Given the description of an element on the screen output the (x, y) to click on. 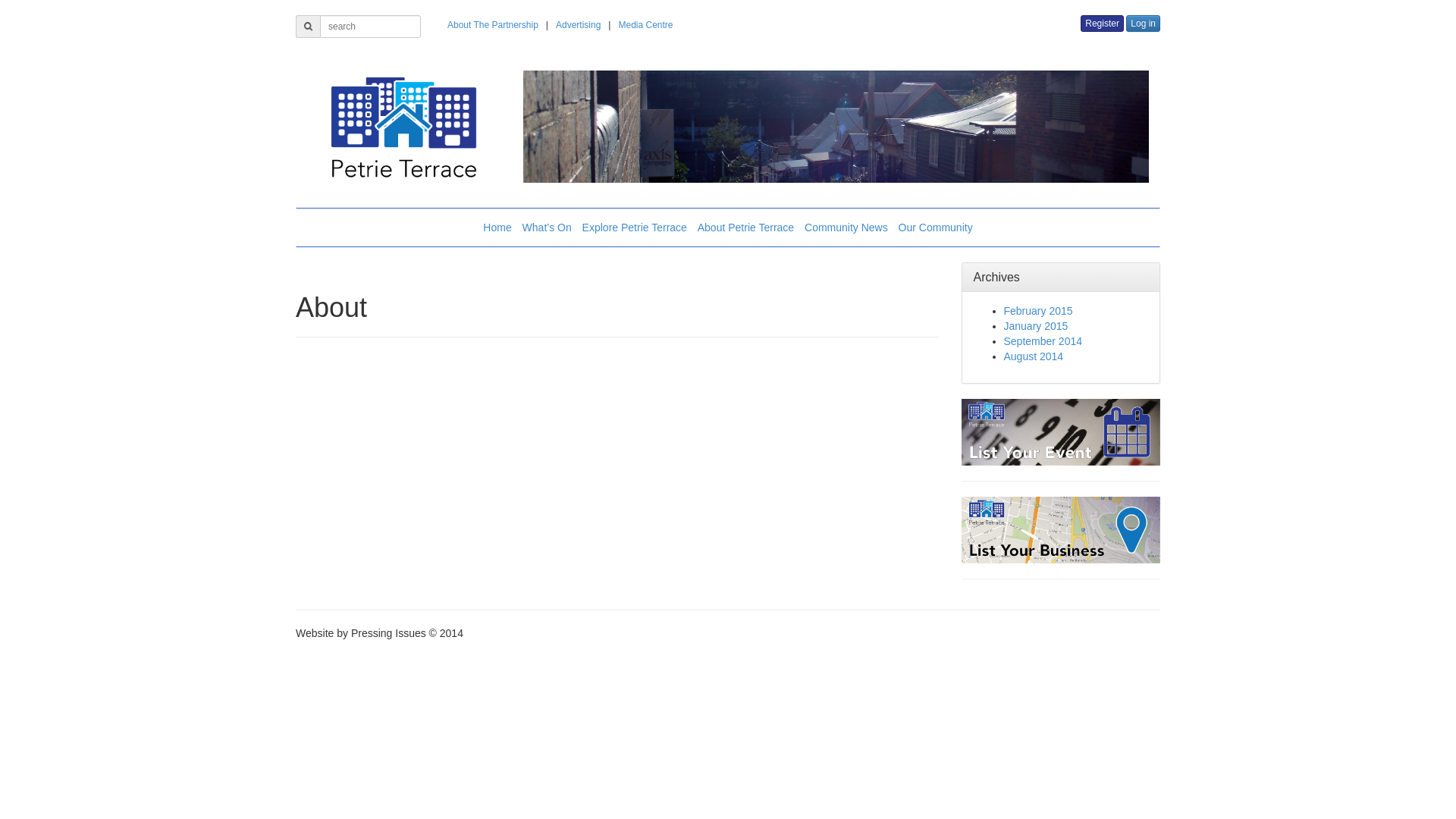
Register Element type: text (1101, 23)
Explore Petrie Terrace Element type: text (634, 227)
Advertising Element type: text (577, 24)
Media Centre Element type: text (645, 24)
Home Element type: text (496, 227)
February 2015 Element type: text (1038, 310)
About Petrie Terrace Element type: text (745, 227)
Log in Element type: text (1143, 23)
August 2014 Element type: text (1033, 356)
Community News Element type: text (845, 227)
September 2014 Element type: text (1043, 341)
Our Community Element type: text (935, 227)
About The Partnership Element type: text (492, 24)
January 2015 Element type: text (1036, 326)
